Given the description of an element on the screen output the (x, y) to click on. 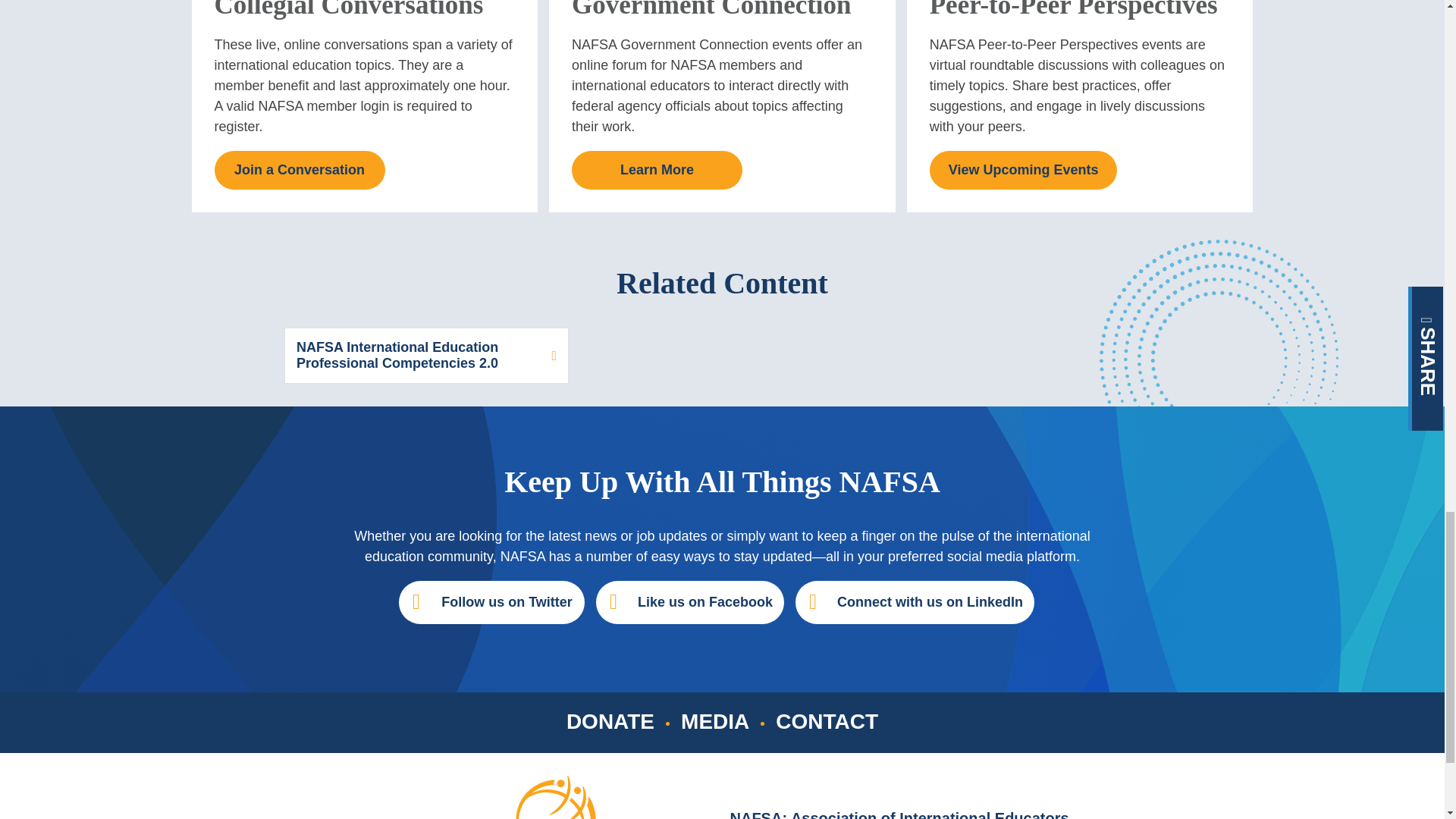
Donate to NAFSA (609, 721)
